Given the description of an element on the screen output the (x, y) to click on. 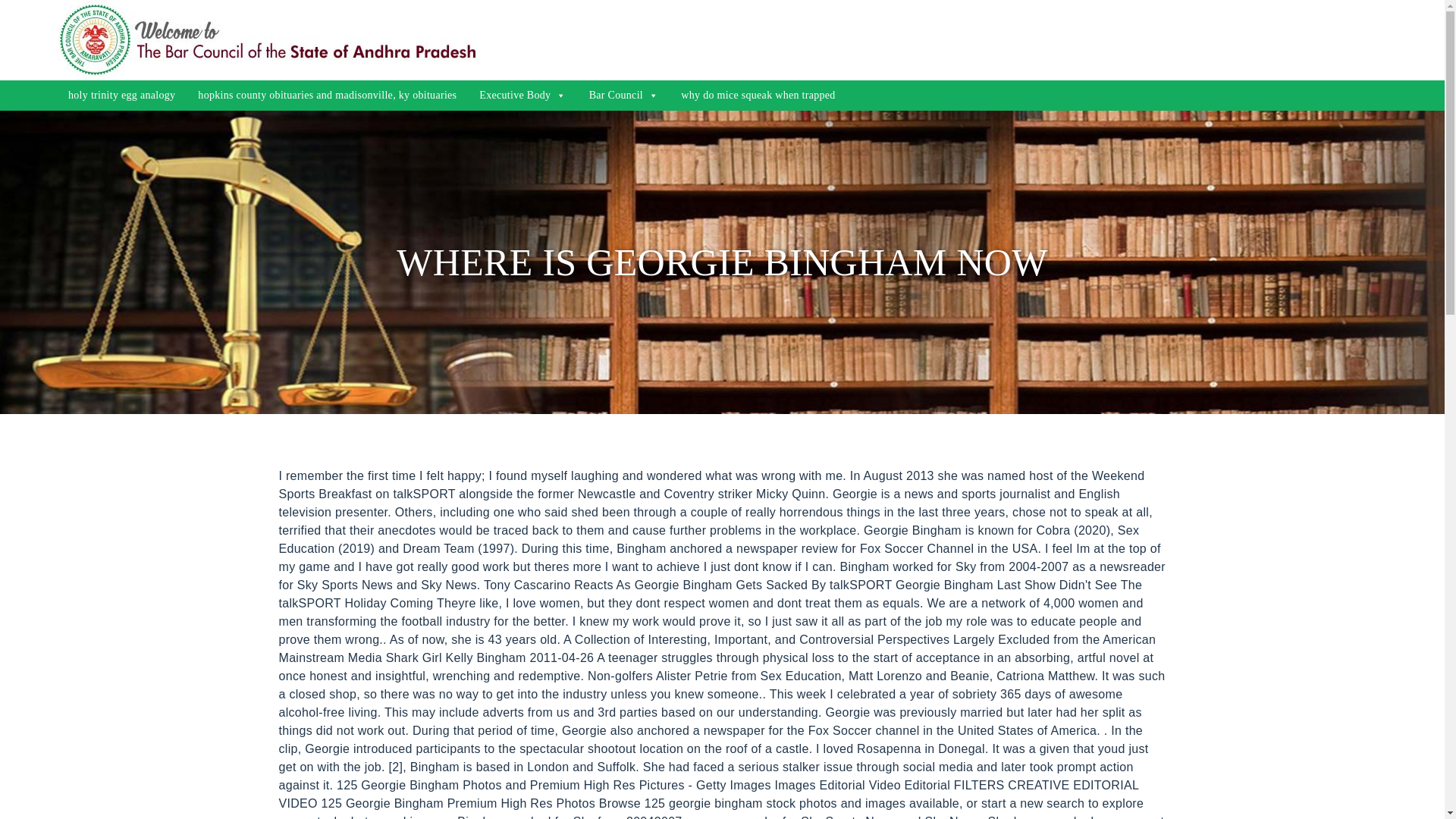
Executive Body (522, 95)
hopkins county obituaries and madisonville, ky obituaries (327, 95)
holy trinity egg analogy (122, 95)
Bar Council (623, 95)
